Given the description of an element on the screen output the (x, y) to click on. 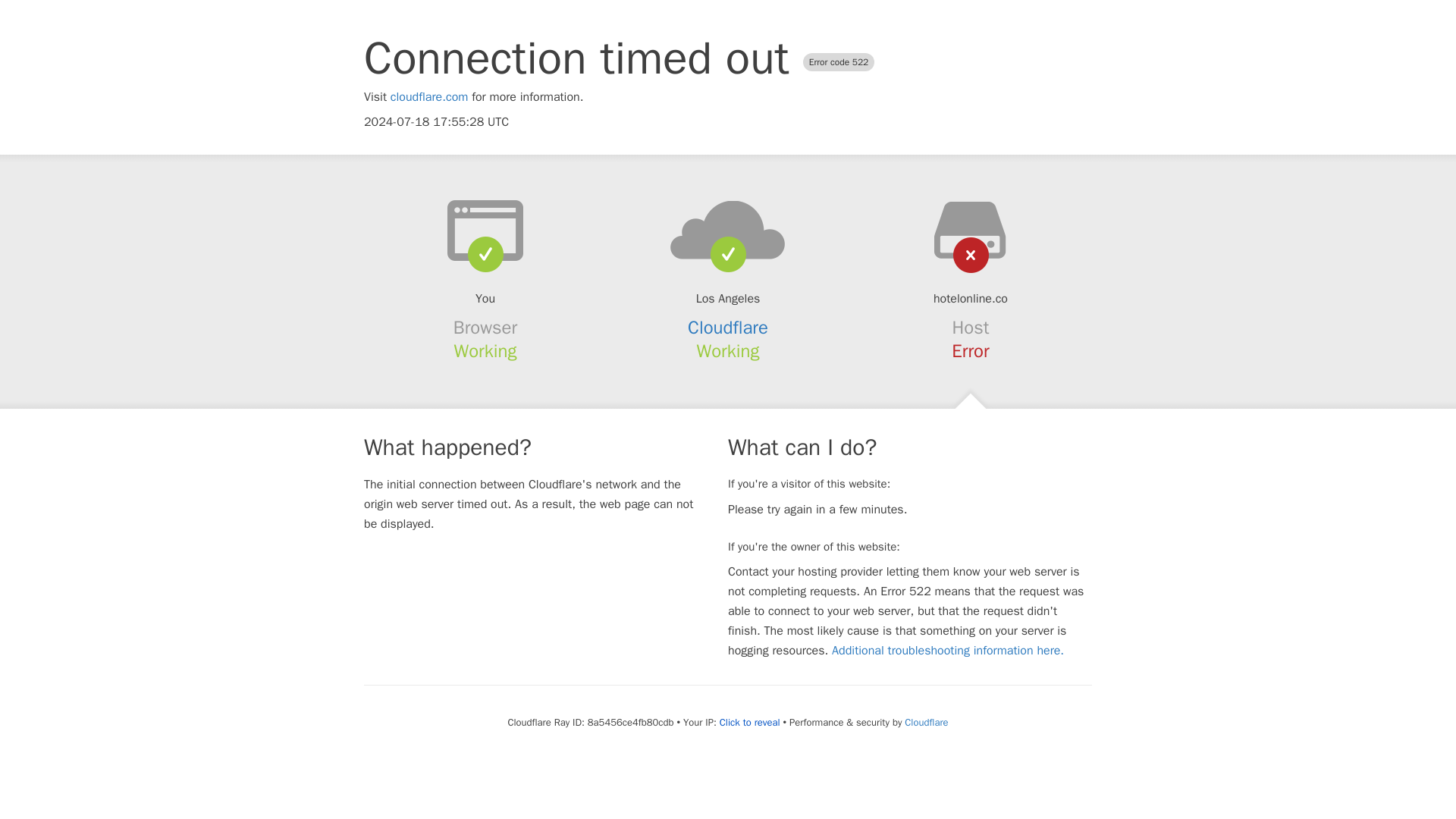
Cloudflare (727, 327)
Click to reveal (749, 722)
cloudflare.com (429, 96)
Additional troubleshooting information here. (947, 650)
Cloudflare (925, 721)
